Given the description of an element on the screen output the (x, y) to click on. 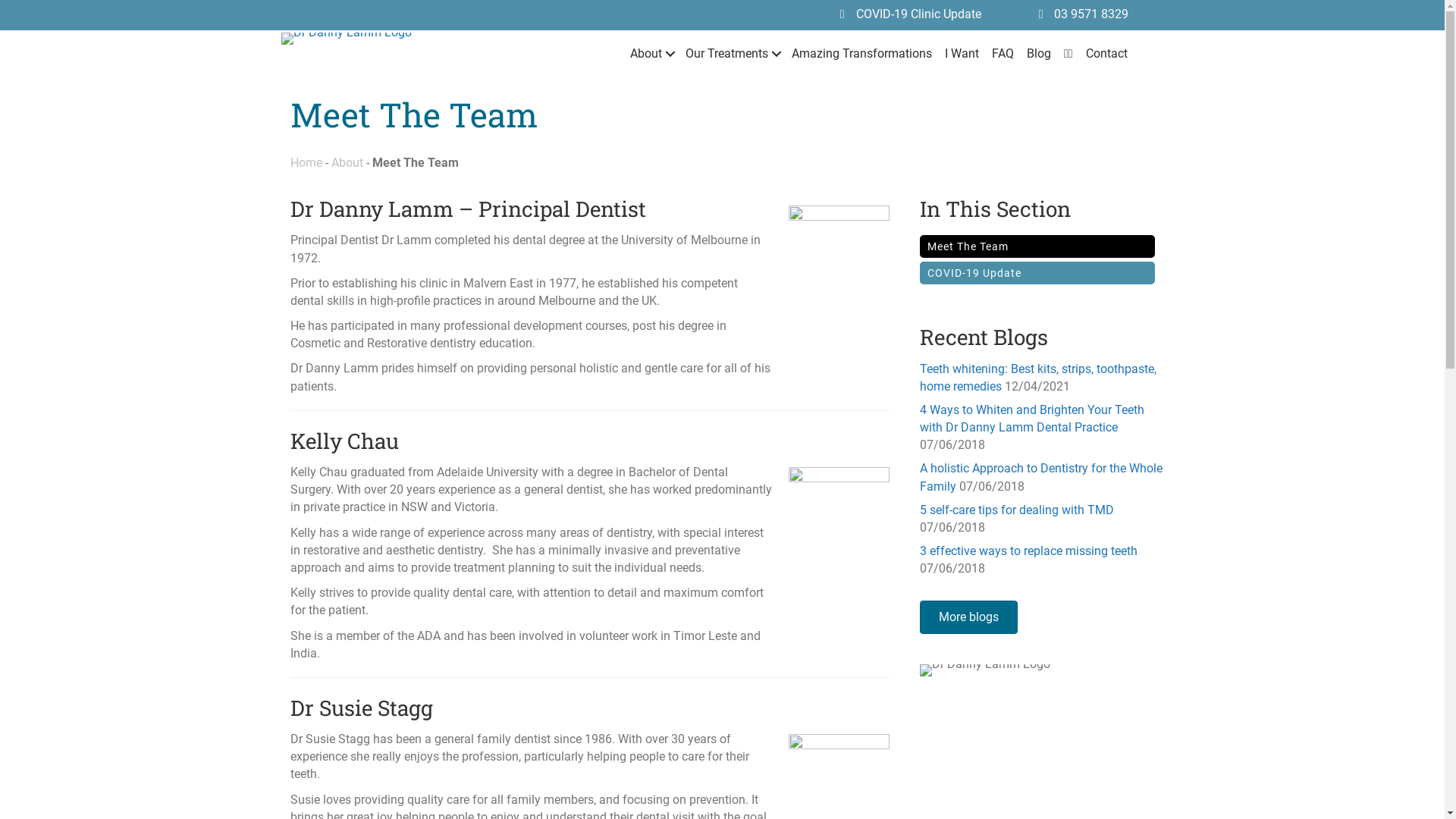
3 effective ways to replace missing teeth Element type: text (1027, 550)
FAQ Element type: text (1002, 53)
Blog Element type: text (1038, 53)
COVID-19 Update Element type: text (1036, 272)
Dr Danny Lamm Logo Element type: hover (345, 38)
I Want Element type: text (961, 53)
Meet The Team Element type: text (1036, 246)
Contact Element type: text (1106, 53)
Dr Danny Lamm Logo Element type: hover (984, 670)
Amazing Transformations Element type: text (861, 53)
About Element type: text (346, 162)
Home Element type: text (305, 162)
03 9571 8329 Element type: text (1091, 13)
More blogs Element type: text (967, 616)
5 self-care tips for dealing with TMD Element type: text (1016, 509)
Our Treatments Element type: text (731, 53)
A holistic Approach to Dentistry for the Whole Family Element type: text (1040, 476)
About Element type: text (651, 53)
COVID-19 Clinic Update Element type: text (918, 13)
